Given the description of an element on the screen output the (x, y) to click on. 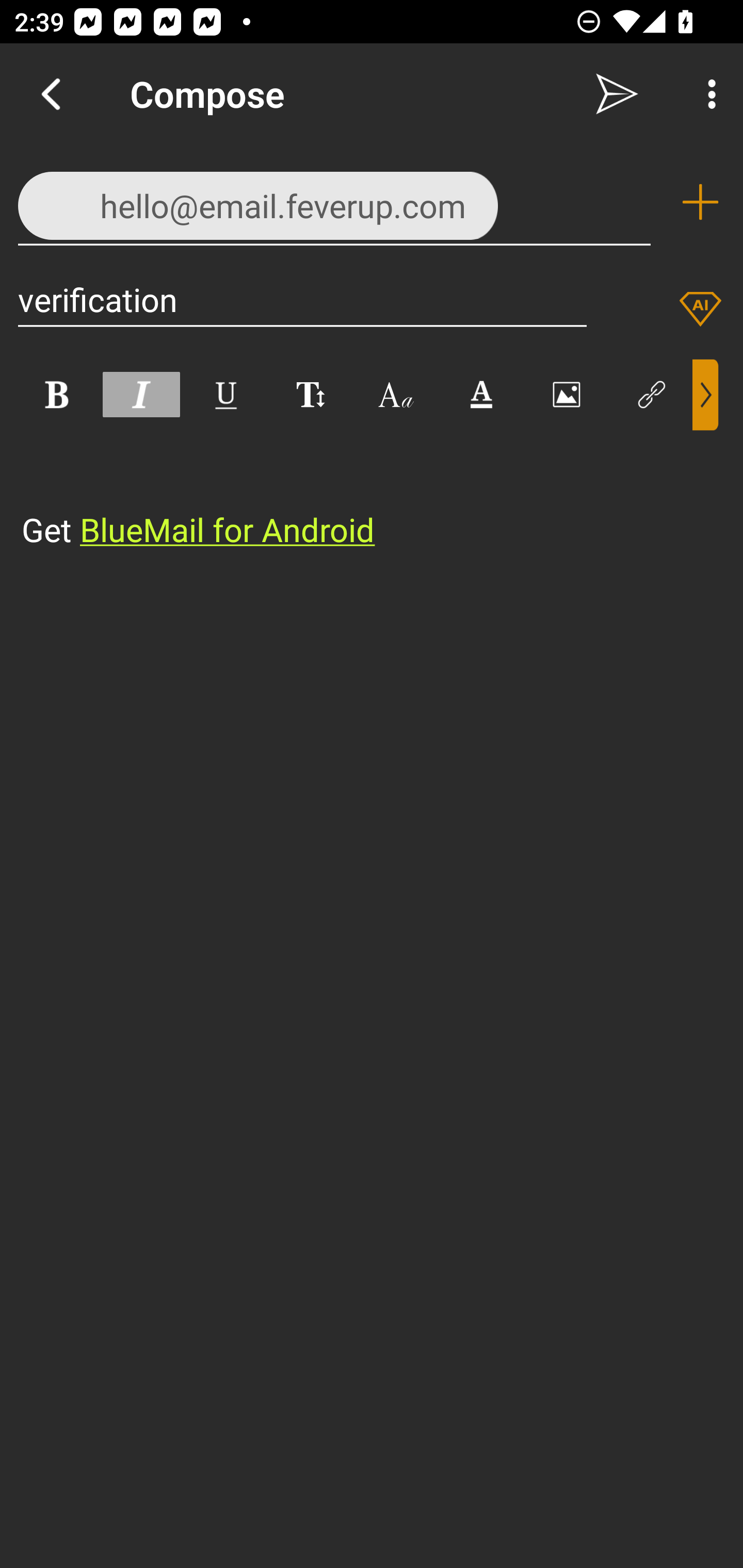
Navigate up (50, 93)
Send (616, 93)
More Options (706, 93)
<hello@email.feverup.com>,  (334, 201)
Add recipient (To) (699, 201)
verification (302, 299)


⁣Get BlueMail for Android ​ (355, 491)
